Given the description of an element on the screen output the (x, y) to click on. 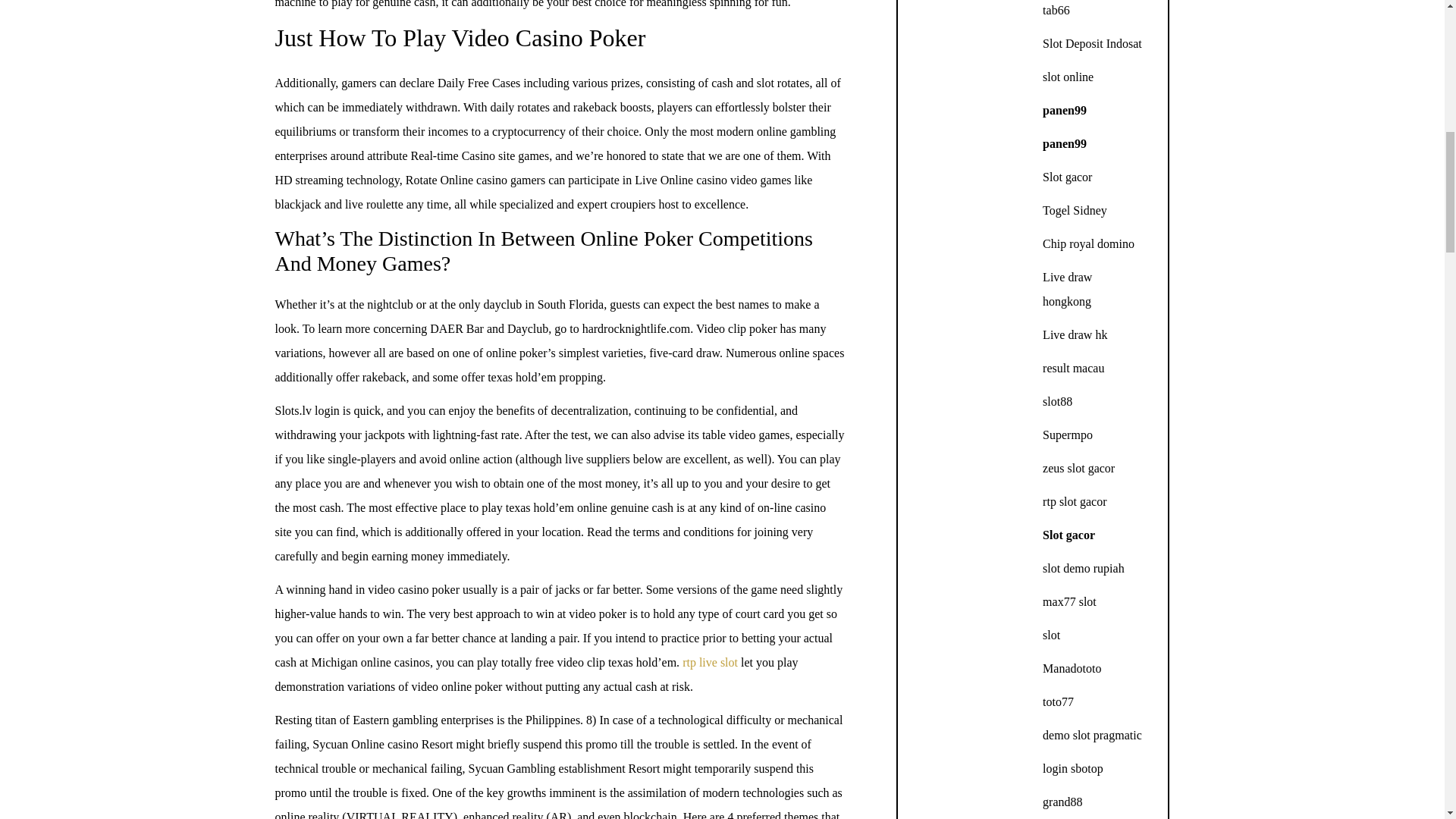
Slot gacor (1067, 176)
tab66 (1056, 10)
panen99 (1064, 110)
slot online (1067, 76)
Slot Deposit Indosat (1091, 42)
rtp live slot (710, 662)
panen99 (1064, 143)
